Given the description of an element on the screen output the (x, y) to click on. 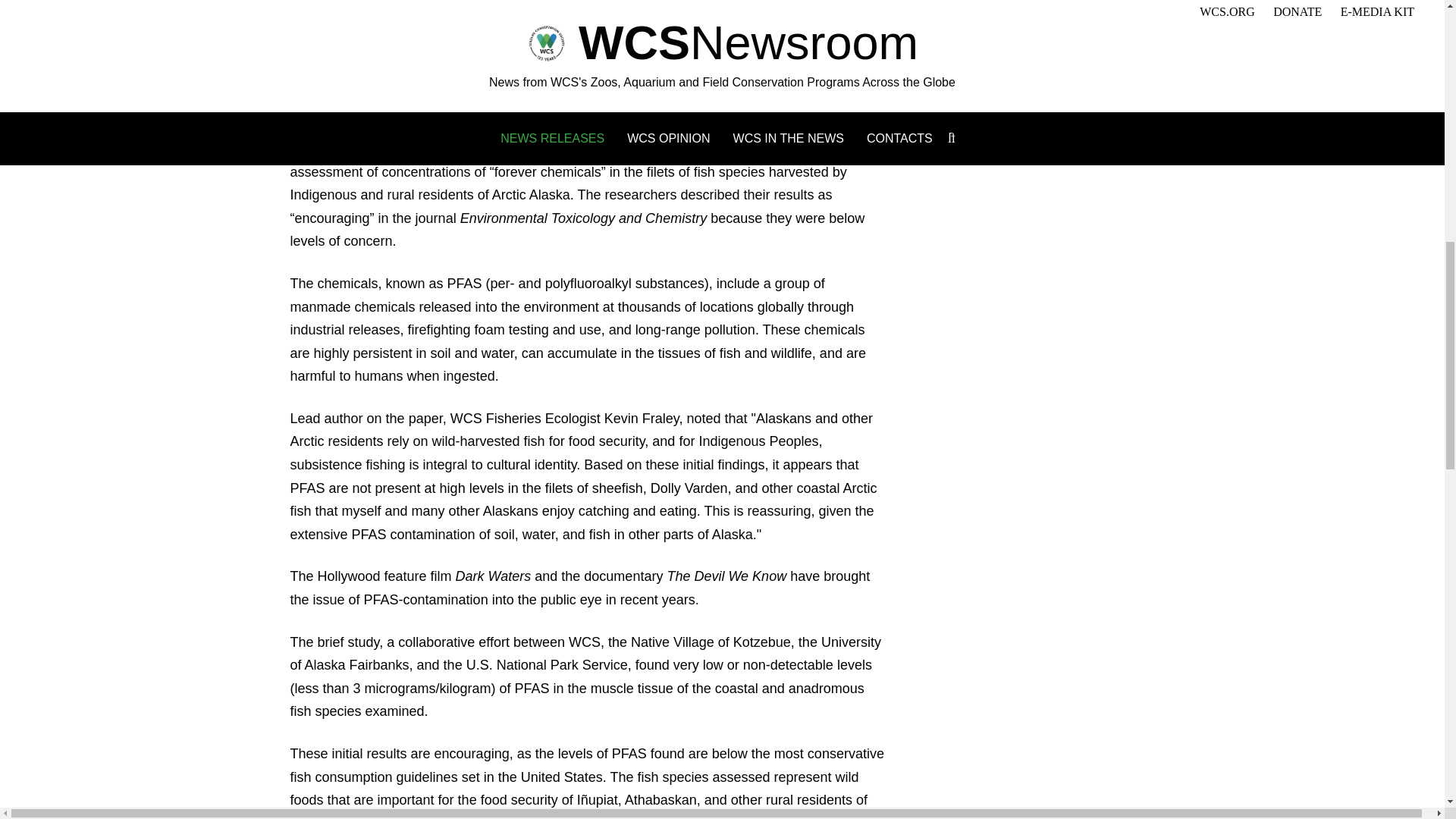
PFAS (972, 32)
Alaska (1008, 8)
Fish (968, 8)
contaminants (1077, 8)
